Given the description of an element on the screen output the (x, y) to click on. 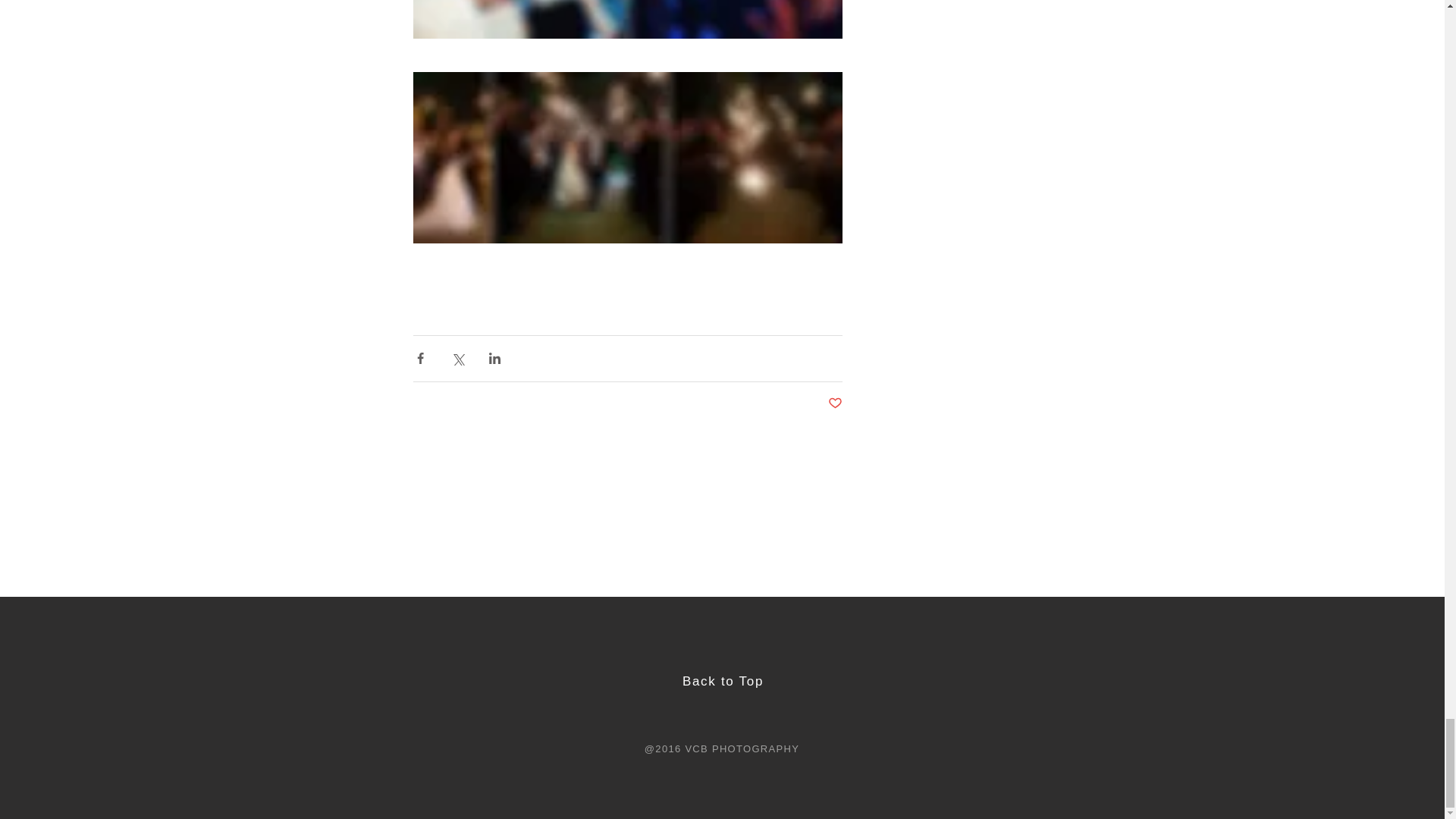
Back to Top (722, 681)
Post not marked as liked (835, 403)
